Given the description of an element on the screen output the (x, y) to click on. 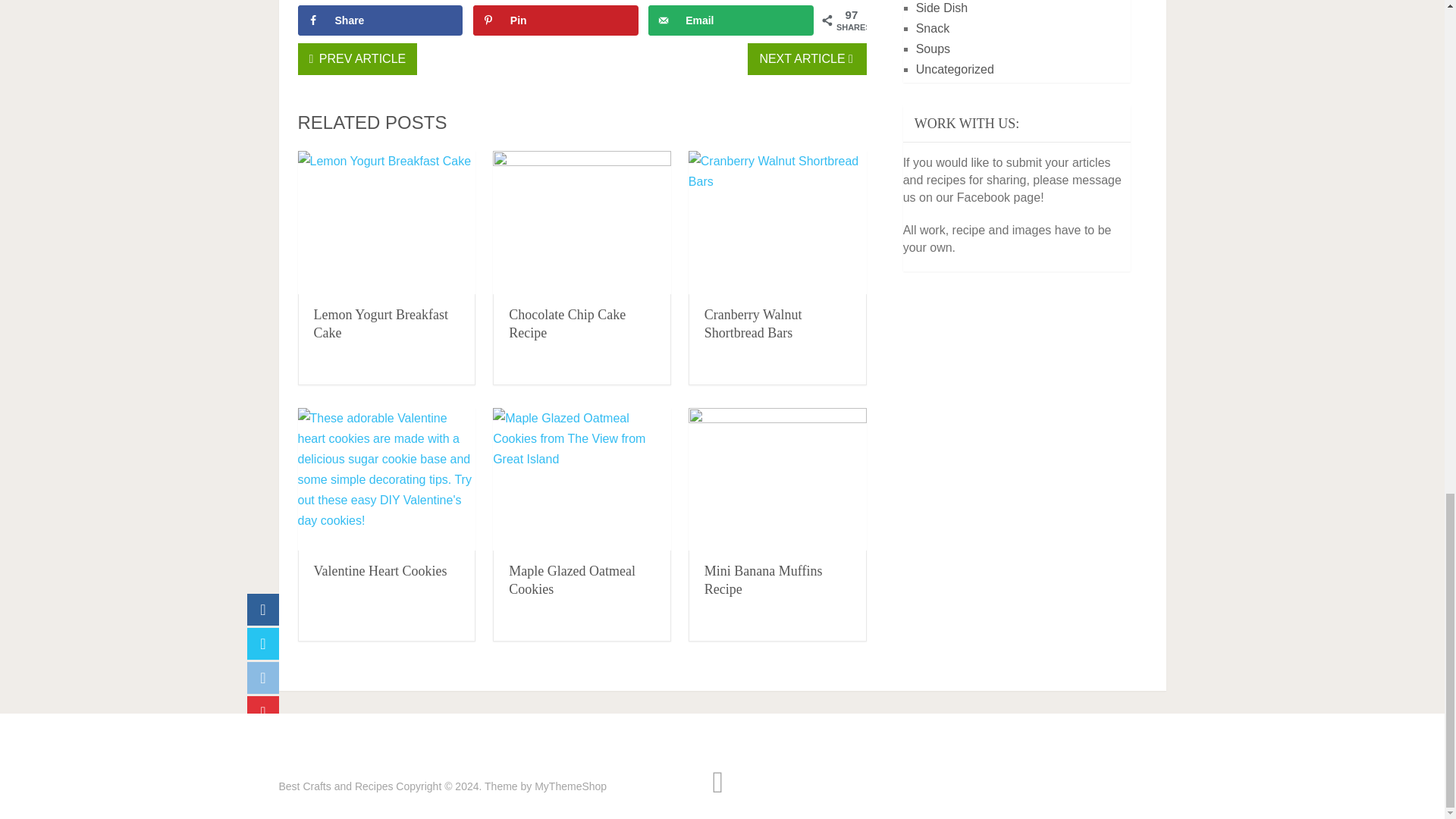
Lemon Yogurt Breakfast Cake (381, 323)
Save to Pinterest (556, 20)
Chocolate Chip Cake Recipe (582, 222)
Cranberry Walnut Shortbread Bars (777, 222)
Cranberry Walnut Shortbread Bars (753, 323)
NEXT ARTICLE (807, 59)
Valentine Heart Cookies (380, 570)
Cranberry Walnut Shortbread Bars (753, 323)
Share (380, 20)
Share on Facebook (380, 20)
